Given the description of an element on the screen output the (x, y) to click on. 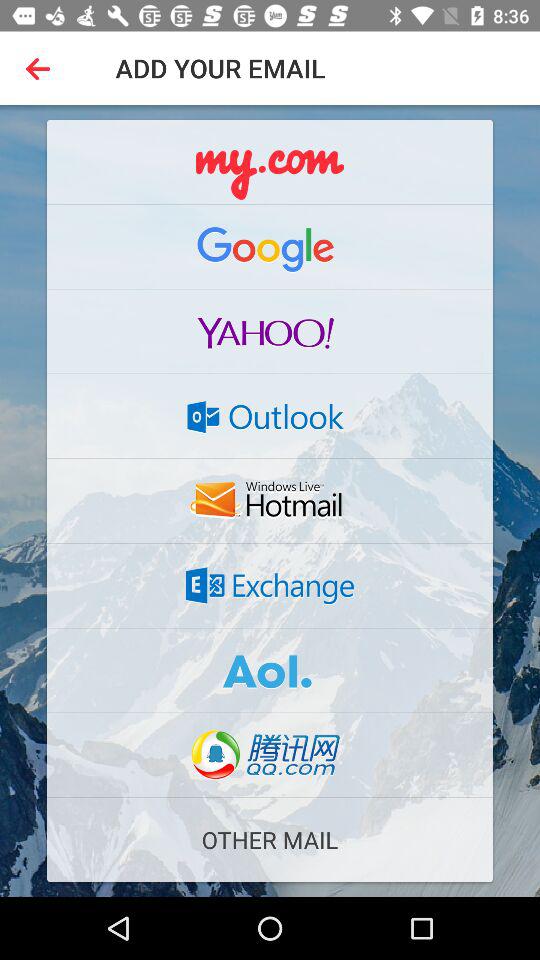
aol (269, 670)
